Given the description of an element on the screen output the (x, y) to click on. 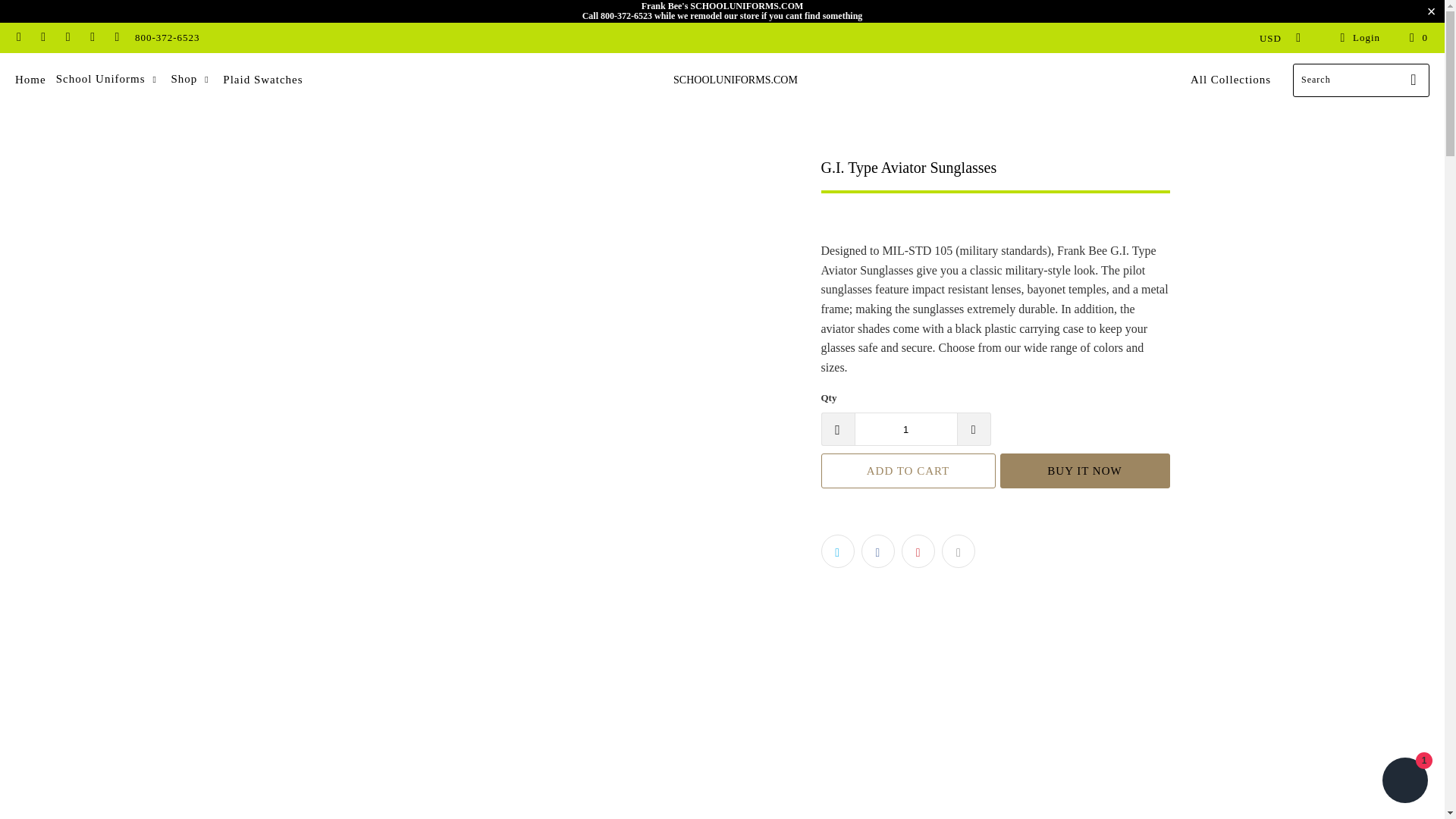
SchoolUniforms.com on Snapchat (91, 37)
My Account  (1357, 37)
1 (904, 428)
SchoolUniforms.com on Twitter (17, 37)
SchoolUniforms.com on Facebook (41, 37)
SchoolUniforms.com on Instagram (67, 37)
Email SchoolUniforms.com (116, 37)
